Given the description of an element on the screen output the (x, y) to click on. 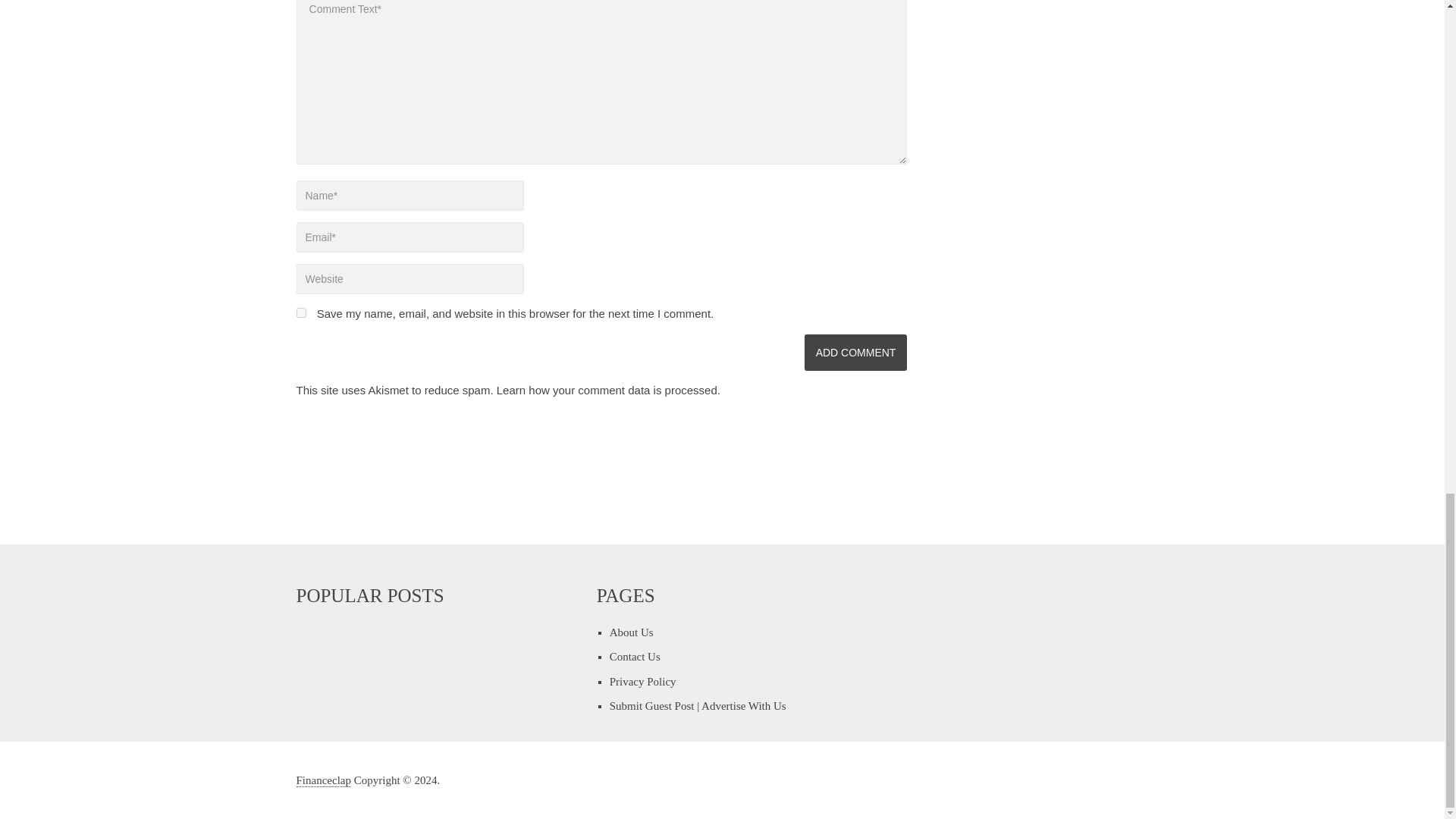
Learn how your comment data is processed (606, 390)
yes (300, 312)
Add Comment (856, 352)
Add Comment (856, 352)
